Given the description of an element on the screen output the (x, y) to click on. 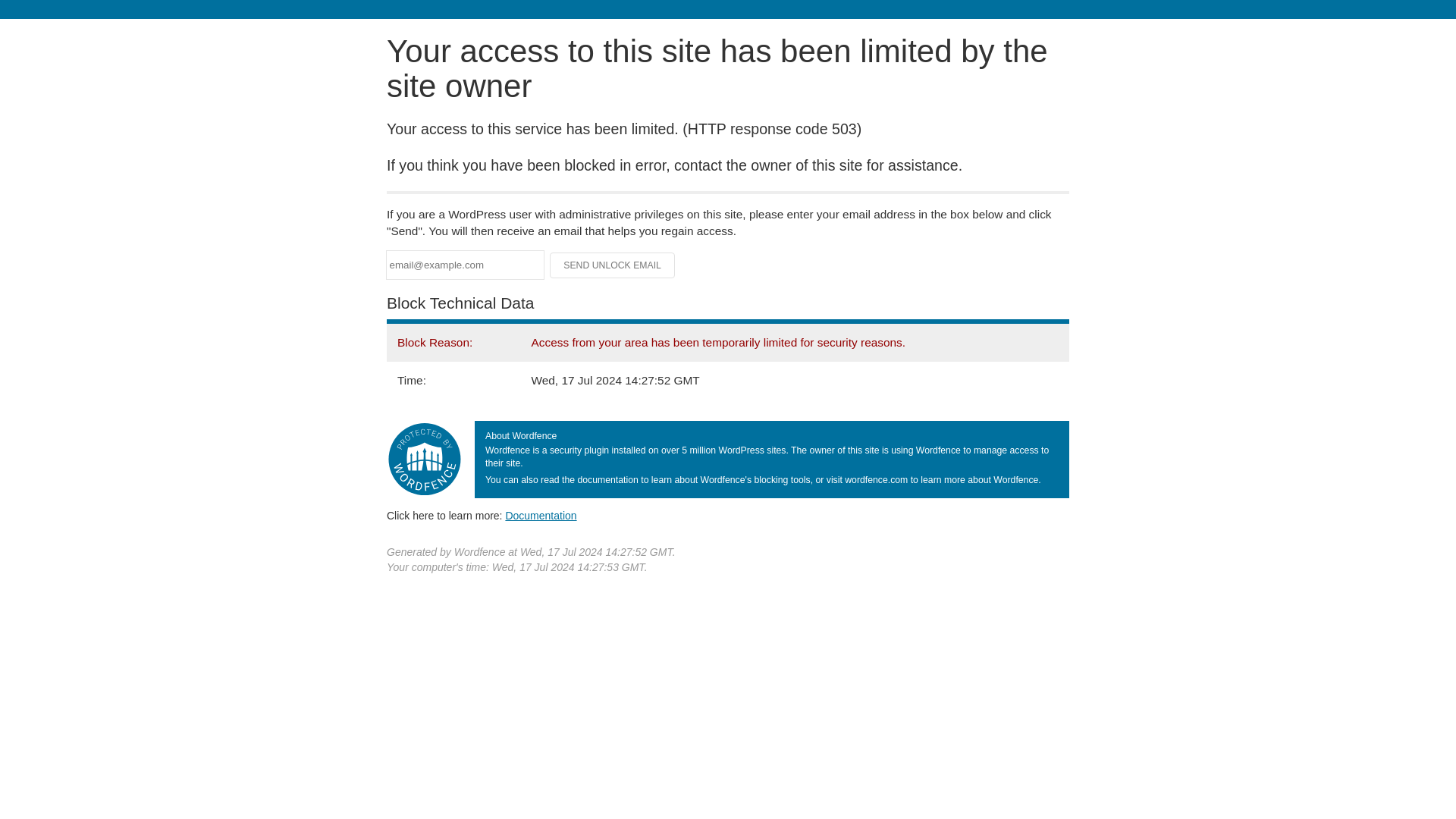
Documentation (540, 515)
Send Unlock Email (612, 265)
Send Unlock Email (612, 265)
